Given the description of an element on the screen output the (x, y) to click on. 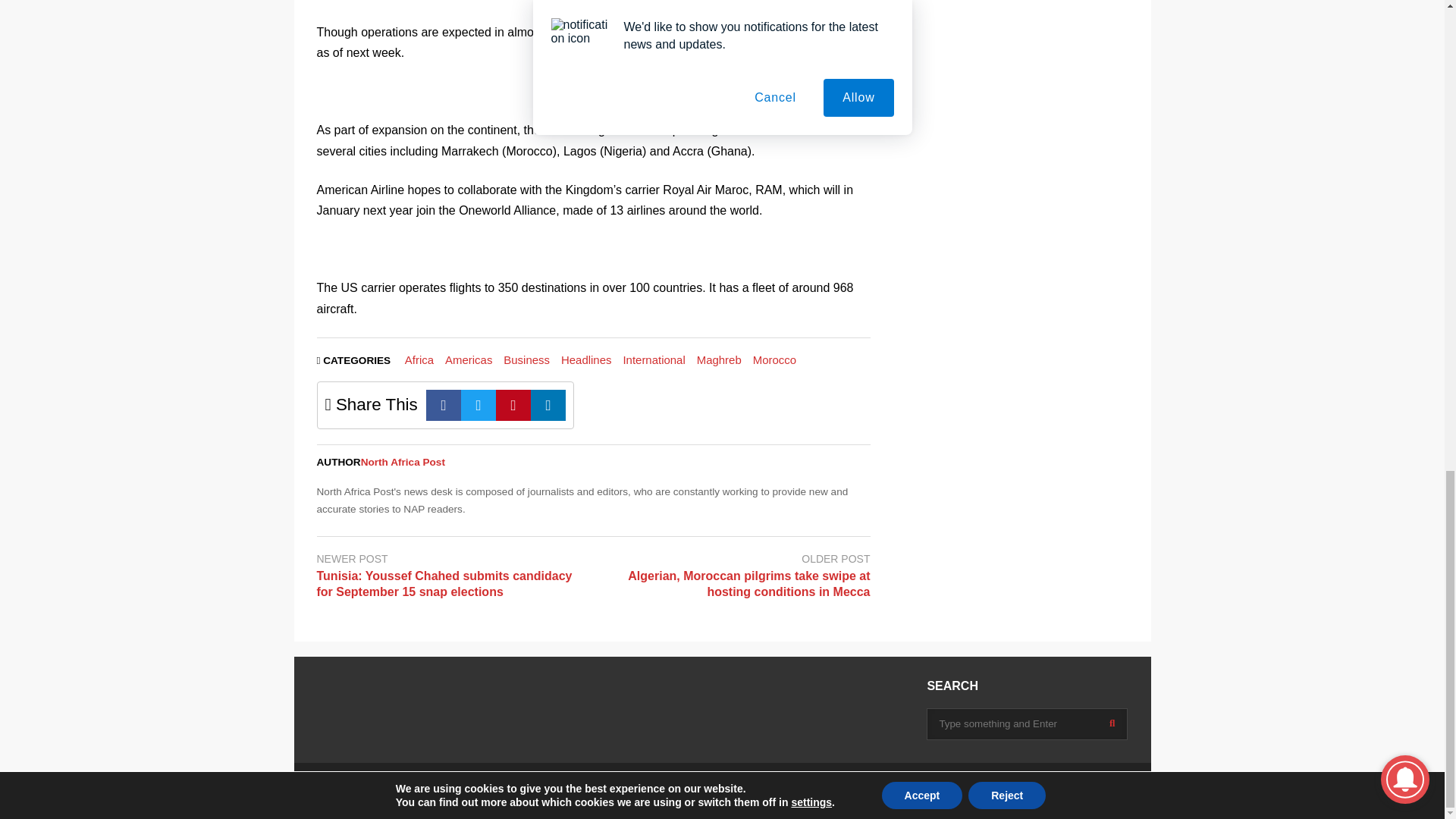
Twitter (478, 404)
Facebook (443, 404)
Linkedin (548, 404)
Pinterest (513, 404)
